Given the description of an element on the screen output the (x, y) to click on. 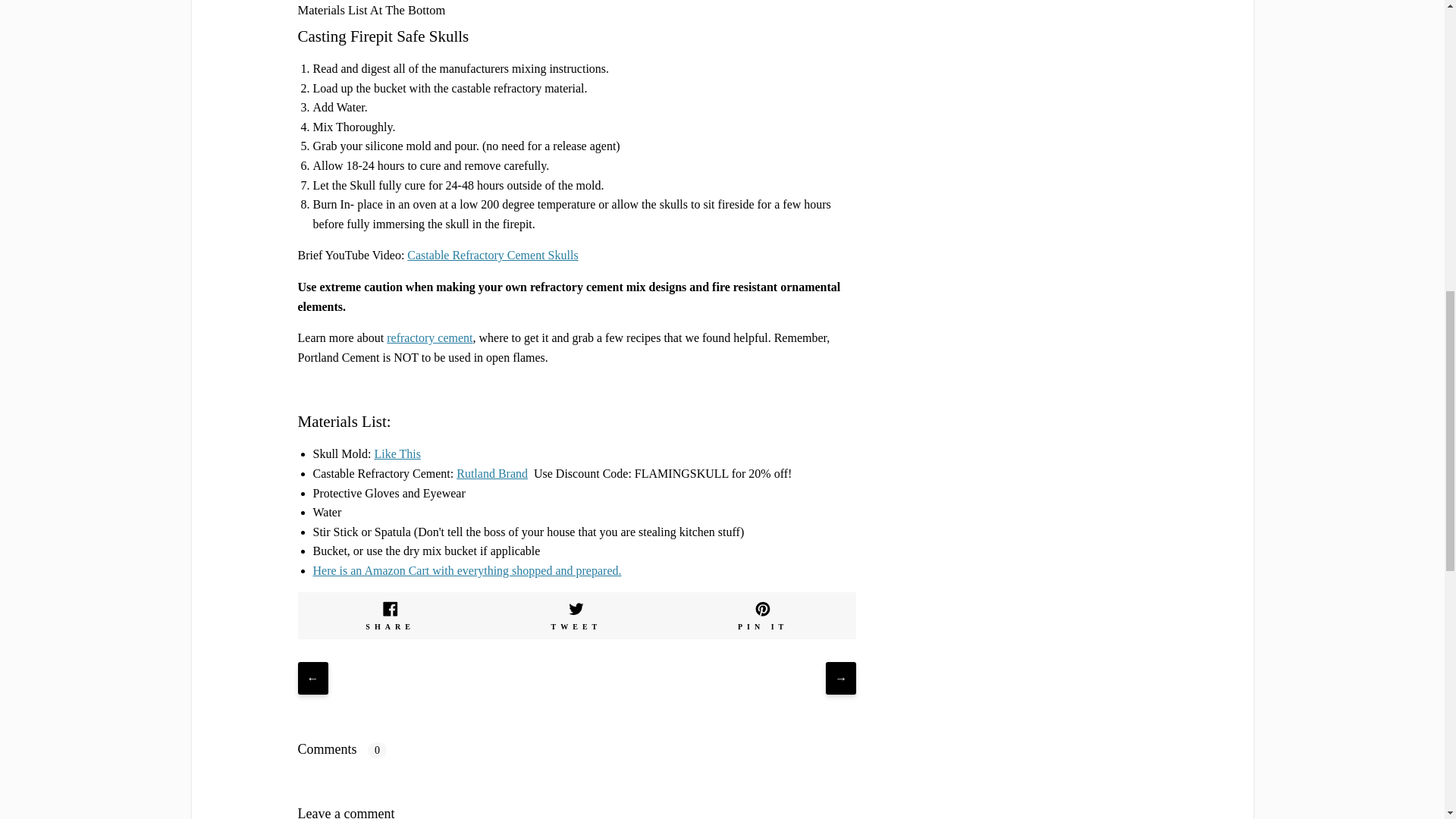
refractory cement (429, 337)
Refractory Cement Information (429, 337)
Refractory Skull Shopping List (467, 570)
Skull Mold made of Silicone (397, 453)
Rutland Castable Refractory Cement (492, 472)
Castable Refractory Cement Skulls (492, 254)
Casting Refractory Cement Skulls Tutorial (492, 254)
Like This (397, 453)
Rutland Brand (492, 472)
Here is an Amazon Cart with everything shopped and prepared. (467, 570)
